Given the description of an element on the screen output the (x, y) to click on. 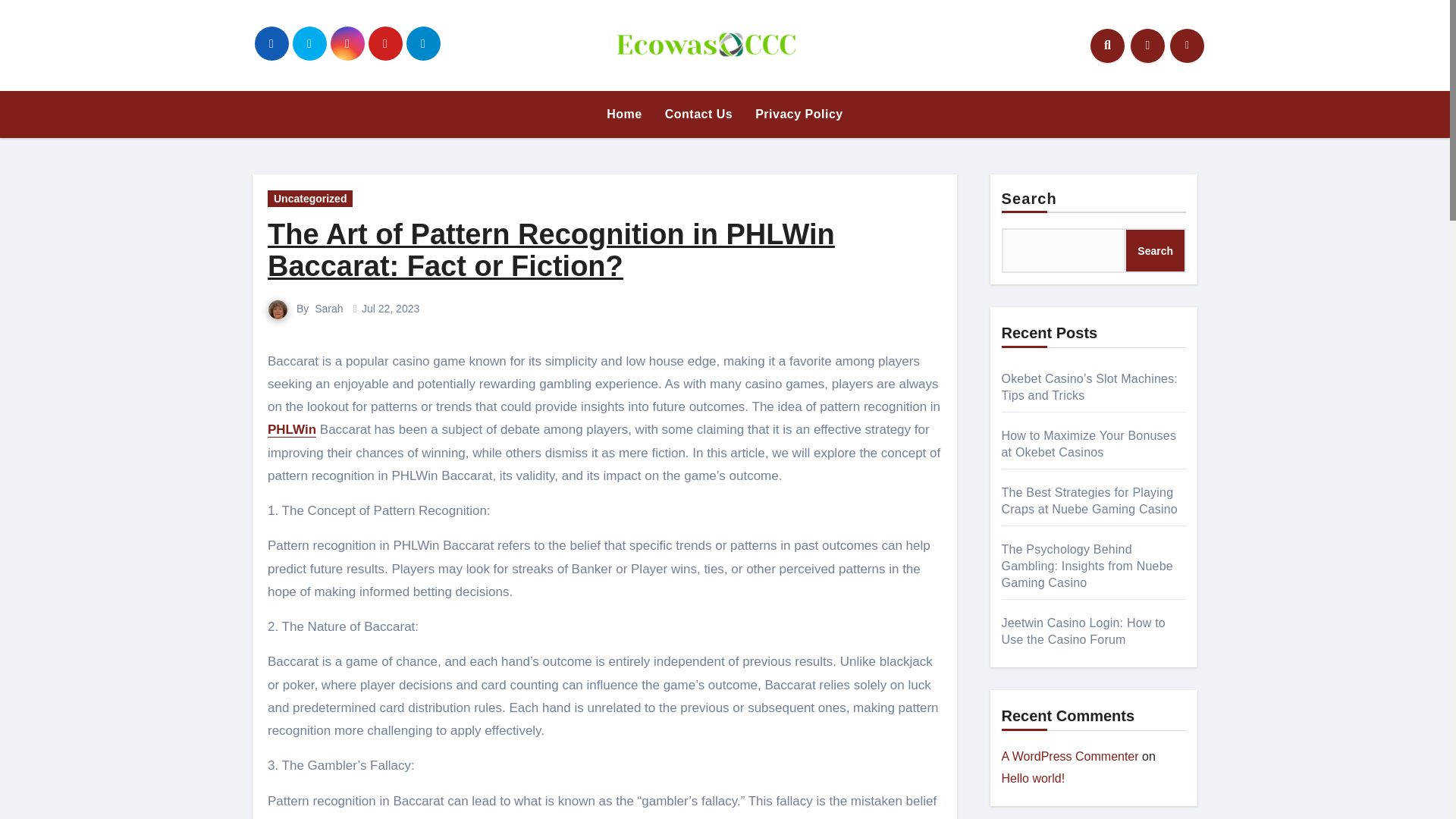
Contact Us (698, 114)
Privacy Policy (799, 114)
Sarah (328, 308)
Uncategorized (309, 198)
Home (623, 114)
PHLWin (291, 429)
Home (623, 114)
